Given the description of an element on the screen output the (x, y) to click on. 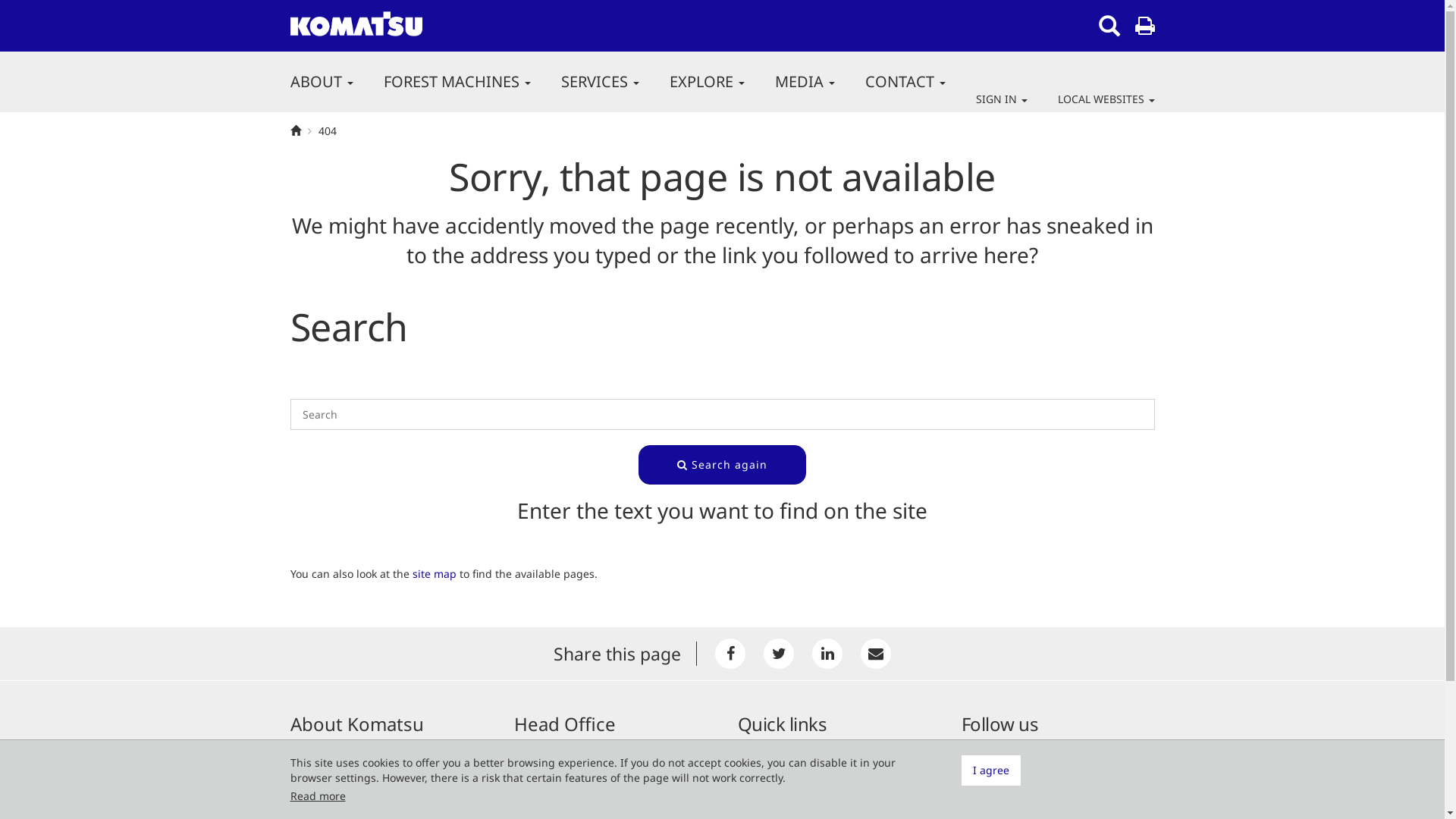
LOCAL WEBSITES Element type: text (1097, 99)
info.au@komatsuforest.com Element type: text (601, 803)
Instagram Element type: text (995, 783)
MEDIA Element type: text (804, 81)
Explore Element type: text (756, 801)
YouTube Element type: text (990, 801)
404 Element type: text (327, 130)
LinkedIn Element type: hover (827, 653)
About Element type: text (752, 747)
SERVICES Element type: text (600, 81)
Twitter Element type: hover (778, 653)
Read more Element type: text (317, 795)
EXPLORE Element type: text (706, 81)
I agree Element type: text (990, 770)
Services Element type: text (757, 783)
Facebook Global Element type: text (1009, 765)
site map Element type: text (434, 573)
Facebook Element type: text (991, 747)
FOREST MACHINES Element type: text (457, 81)
Print Element type: hover (1144, 25)
Facebook Element type: hover (730, 653)
Forest Machines Element type: text (778, 765)
Search again Element type: text (722, 464)
ABOUT Element type: text (320, 81)
Email Element type: hover (875, 653)
CONTACT Element type: text (904, 81)
SIGN IN Element type: text (1000, 99)
